Given the description of an element on the screen output the (x, y) to click on. 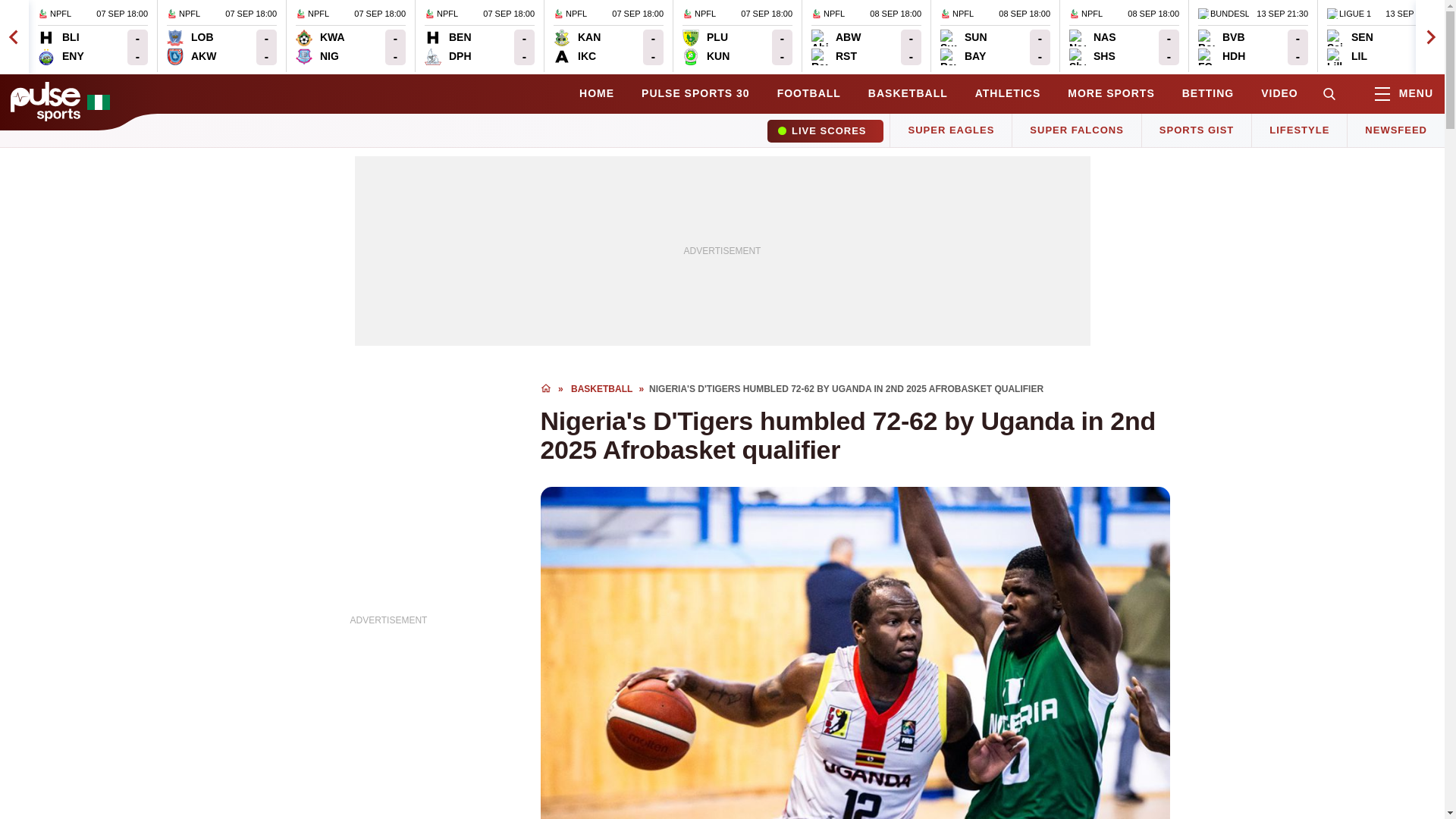
Kwara United - Niger Tornadoes (320, 47)
Borussia Dortmund - FC Heidenheim (1221, 47)
Nasarawa United - Shooting Stars (607, 36)
Kano Pillars - Ikorodu City (1092, 47)
NPFL (1252, 36)
NPFL (866, 36)
